Given the description of an element on the screen output the (x, y) to click on. 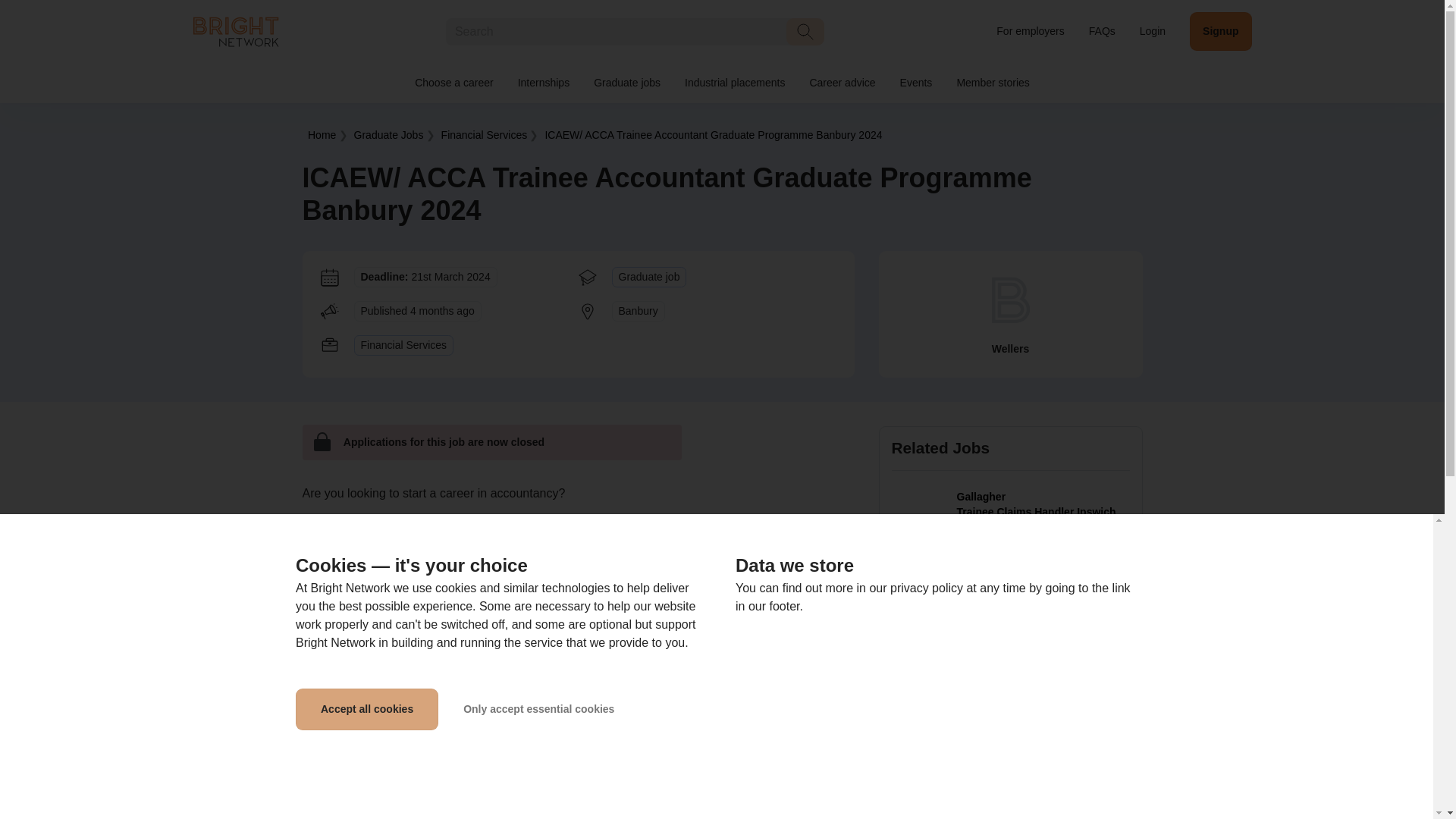
Graduate jobs (626, 83)
Member stories (992, 83)
Career advice (841, 83)
Graduate (388, 134)
Internships (542, 83)
Events (916, 83)
Industrial placements (734, 83)
Choose a career (454, 83)
Financial (484, 134)
Home (321, 134)
Home (235, 30)
